Given the description of an element on the screen output the (x, y) to click on. 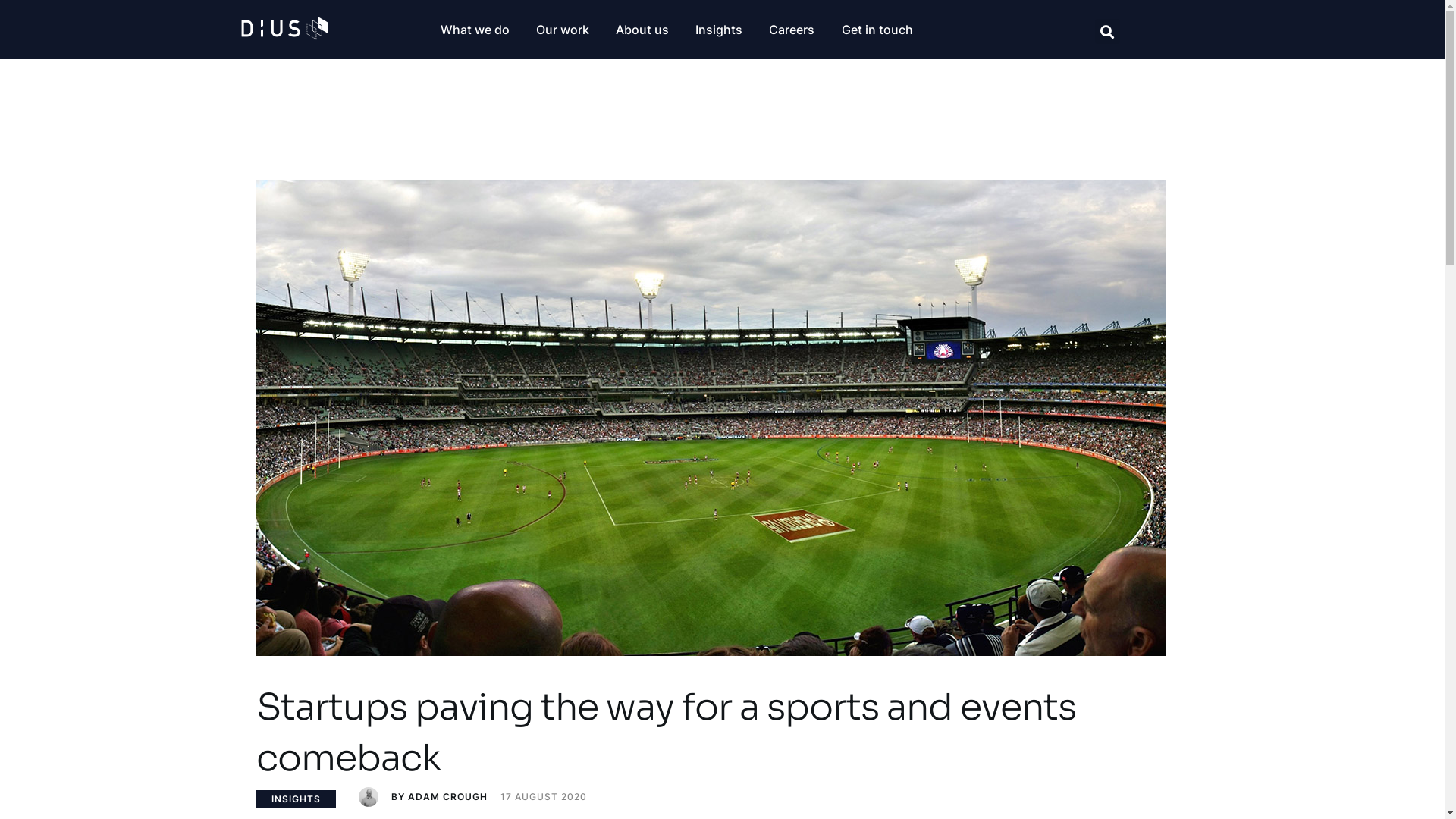
INSIGHTS Element type: text (295, 799)
BY ADAM CROUGH Element type: text (427, 797)
Our work Element type: text (562, 28)
Careers Element type: text (792, 28)
Get in touch Element type: text (876, 28)
Insights Element type: text (719, 28)
What we do Element type: text (474, 28)
About us Element type: text (641, 28)
